Given the description of an element on the screen output the (x, y) to click on. 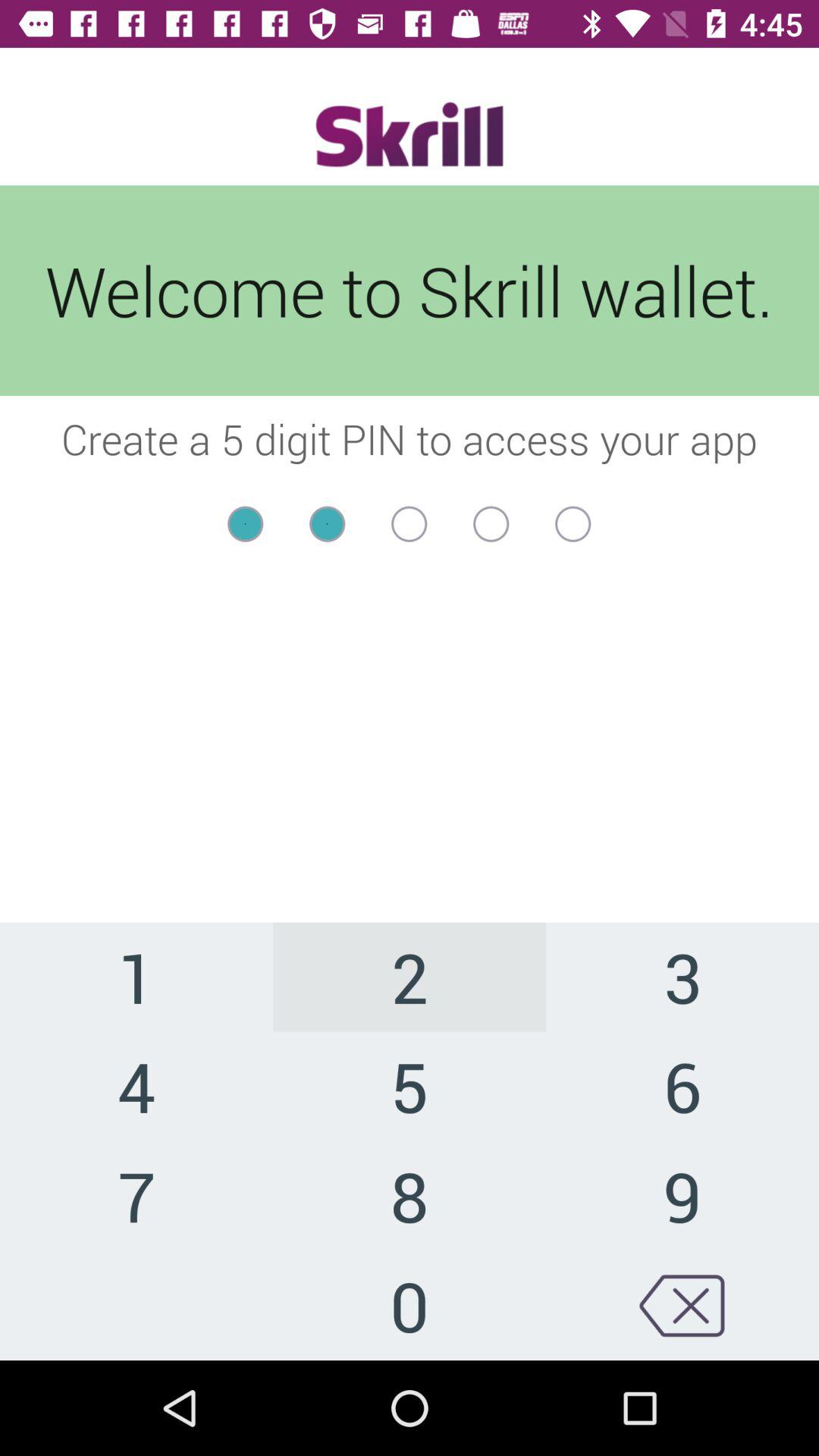
launch item below the create a 5 item (409, 553)
